Given the description of an element on the screen output the (x, y) to click on. 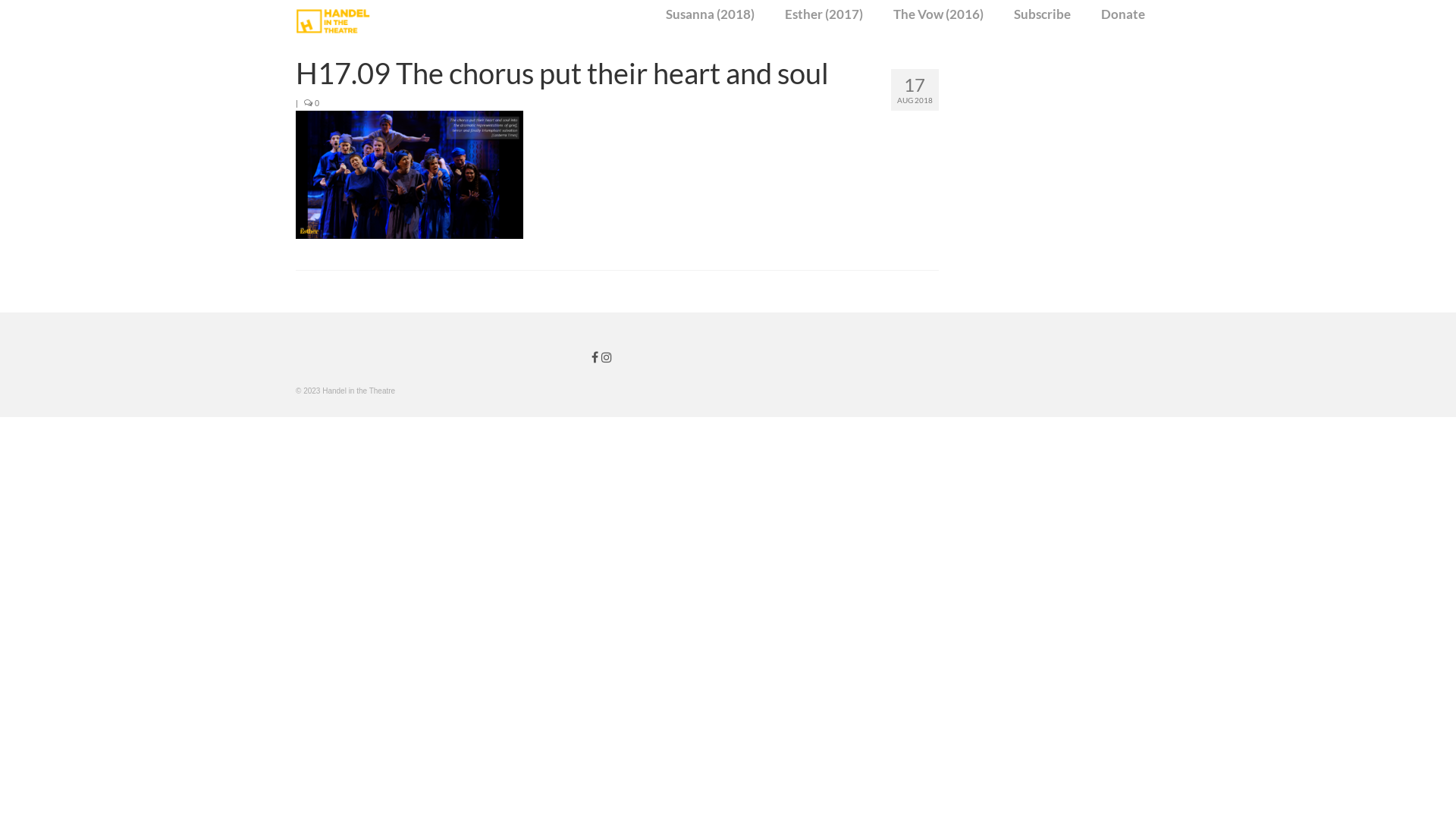
Susanna (2018) Element type: text (709, 14)
Handel in the Theatre on Instagram Element type: hover (606, 357)
Handel in the Theatre on Facebook Element type: hover (596, 357)
The Vow (2016) Element type: text (938, 14)
Esther (2017) Element type: text (823, 14)
Donate Element type: text (1122, 14)
Subscribe Element type: text (1041, 14)
